Given the description of an element on the screen output the (x, y) to click on. 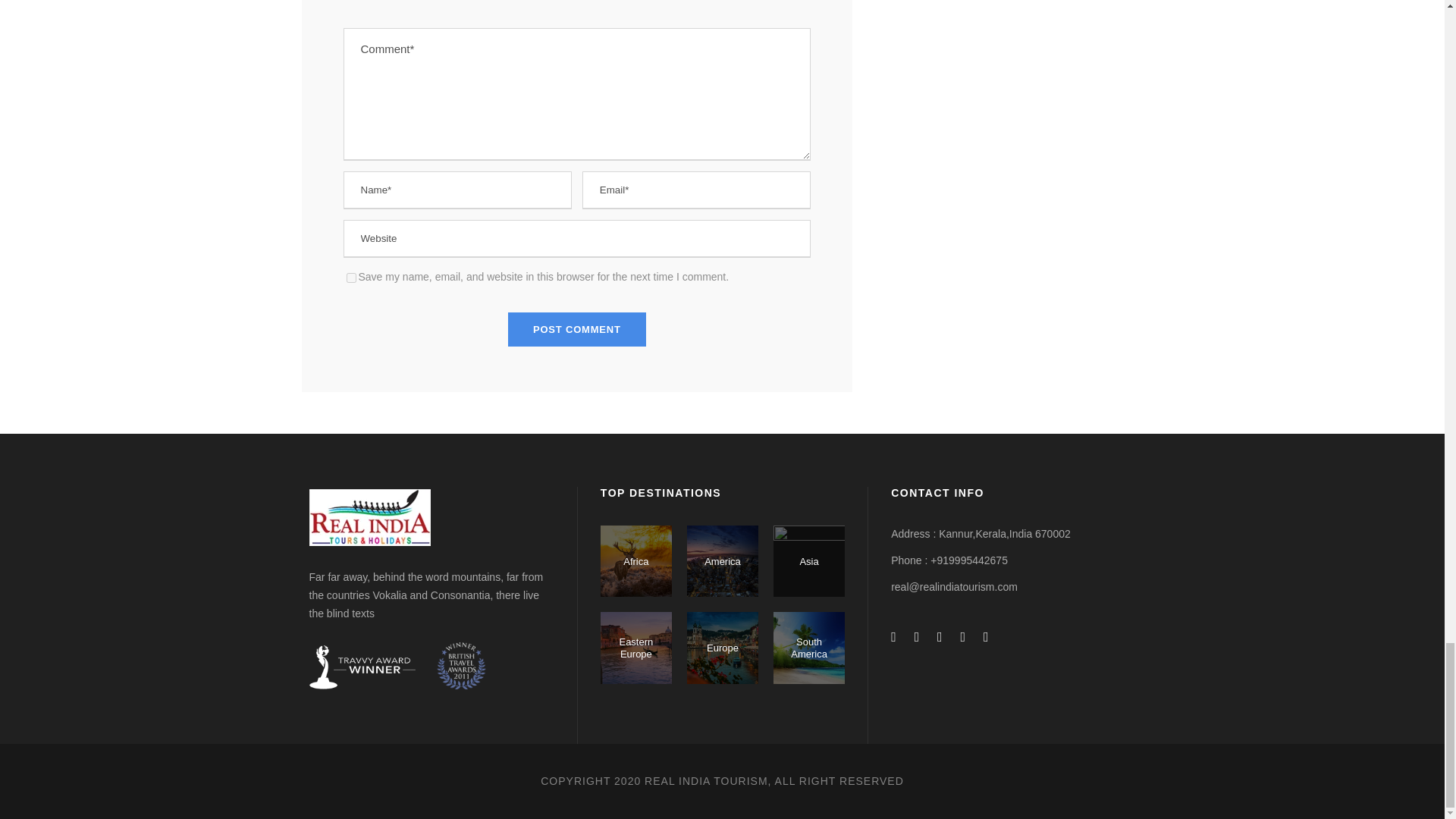
Post Comment (577, 329)
yes (350, 277)
